Given the description of an element on the screen output the (x, y) to click on. 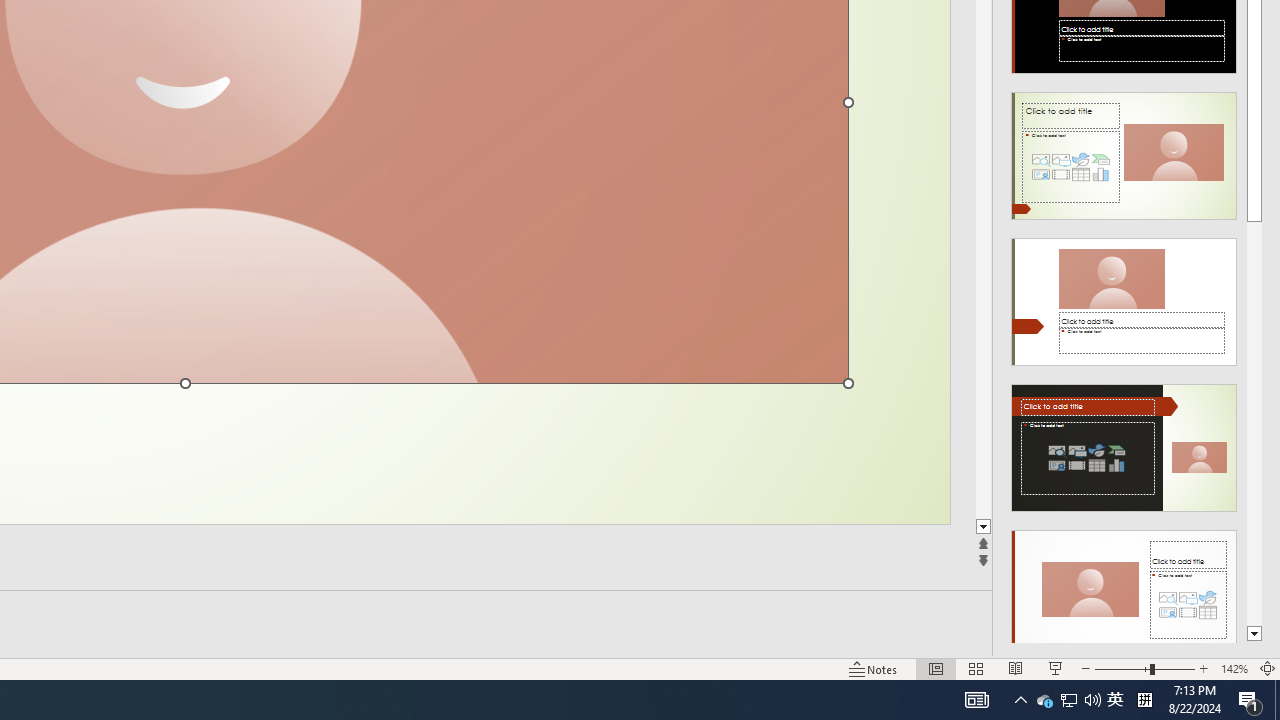
Zoom 142% (1234, 668)
Design Idea (1124, 587)
